Given the description of an element on the screen output the (x, y) to click on. 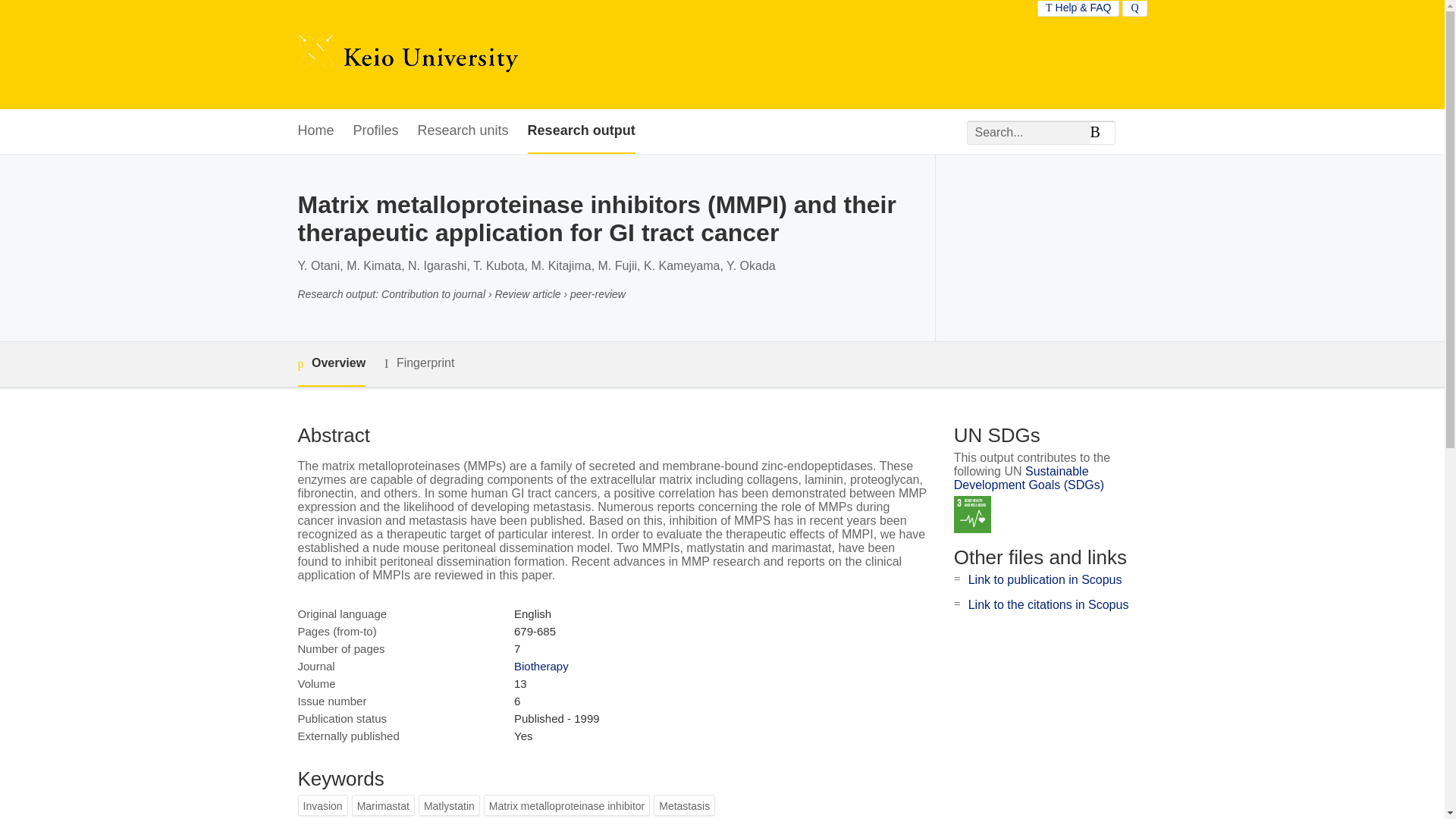
Link to publication in Scopus (1045, 579)
Keio University Home (407, 54)
Research units (462, 130)
Link to the citations in Scopus (1048, 604)
Research output (580, 130)
Profiles (375, 130)
Overview (331, 364)
Fingerprint (419, 363)
SDG 3 - Good Health and Well-being (972, 514)
Biotherapy (541, 666)
